Given the description of an element on the screen output the (x, y) to click on. 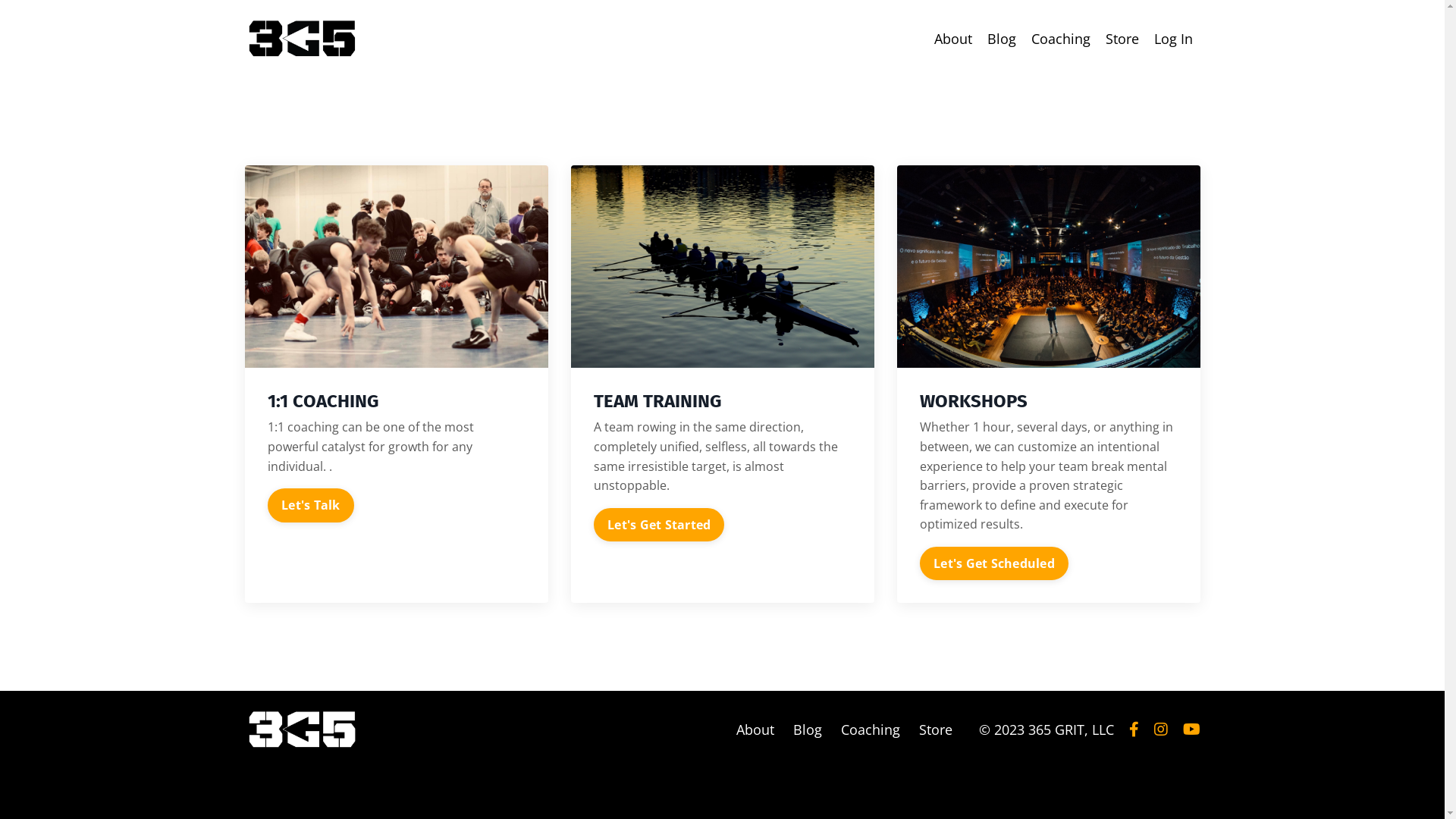
Coaching Element type: text (1060, 39)
Blog Element type: text (807, 729)
Coaching Element type: text (869, 729)
Let's Get Scheduled Element type: text (993, 563)
Let's Get Started Element type: text (658, 524)
About Element type: text (754, 729)
Let's Talk Element type: text (309, 505)
Log In Element type: text (1173, 38)
Blog Element type: text (1001, 39)
Store Element type: text (935, 729)
Store Element type: text (1122, 39)
About Element type: text (953, 39)
